Given the description of an element on the screen output the (x, y) to click on. 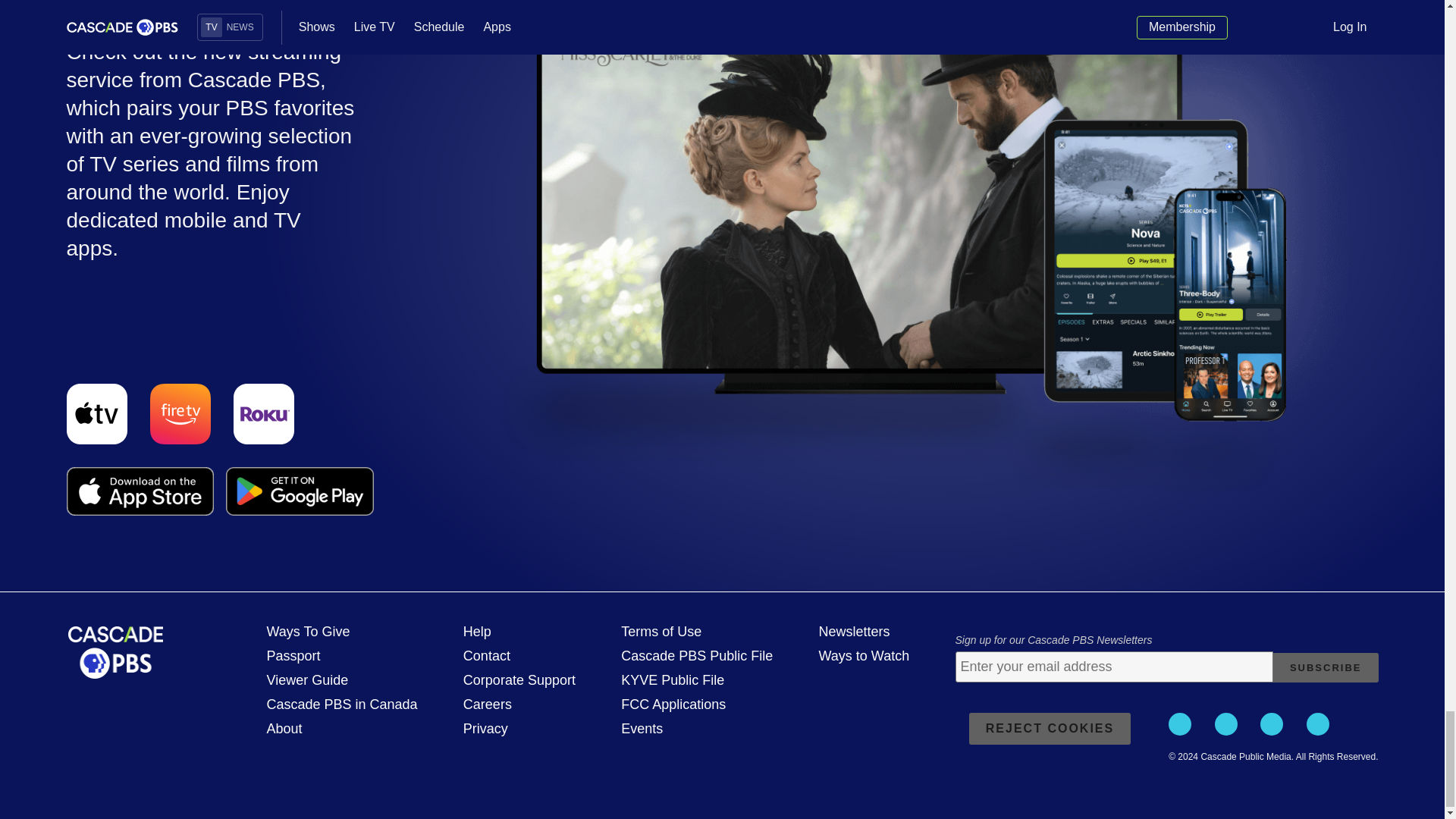
Subscribe (1325, 667)
